Given the description of an element on the screen output the (x, y) to click on. 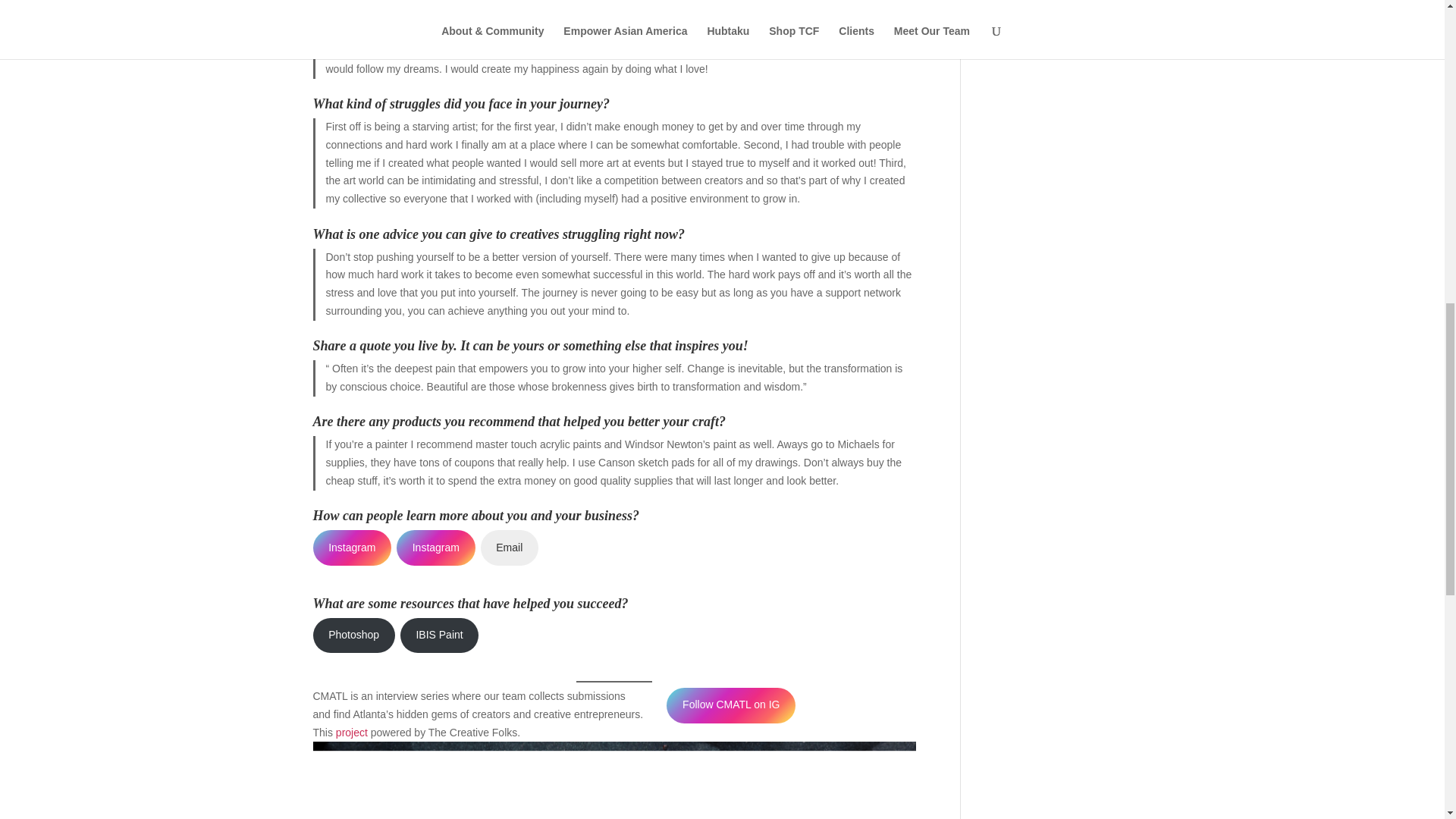
Instagram (436, 547)
IBIS Paint (439, 635)
Instagram (352, 547)
Follow CMATL on IG (730, 704)
Photoshop (353, 635)
project (352, 732)
Email (509, 547)
